Given the description of an element on the screen output the (x, y) to click on. 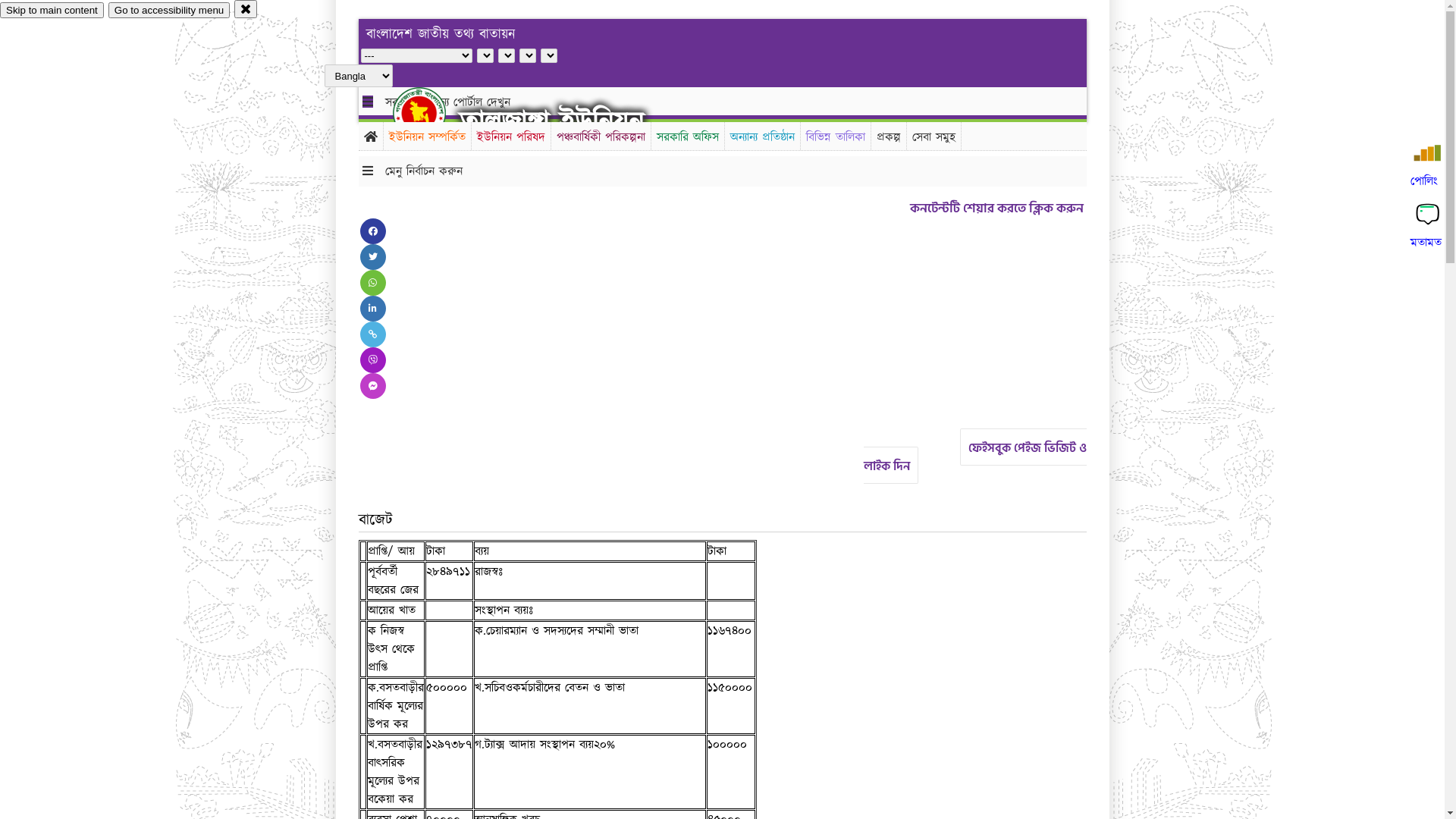
Go to accessibility menu Element type: text (168, 10)
Skip to main content Element type: text (51, 10)
close Element type: hover (245, 9)

                
             Element type: hover (431, 112)
